Given the description of an element on the screen output the (x, y) to click on. 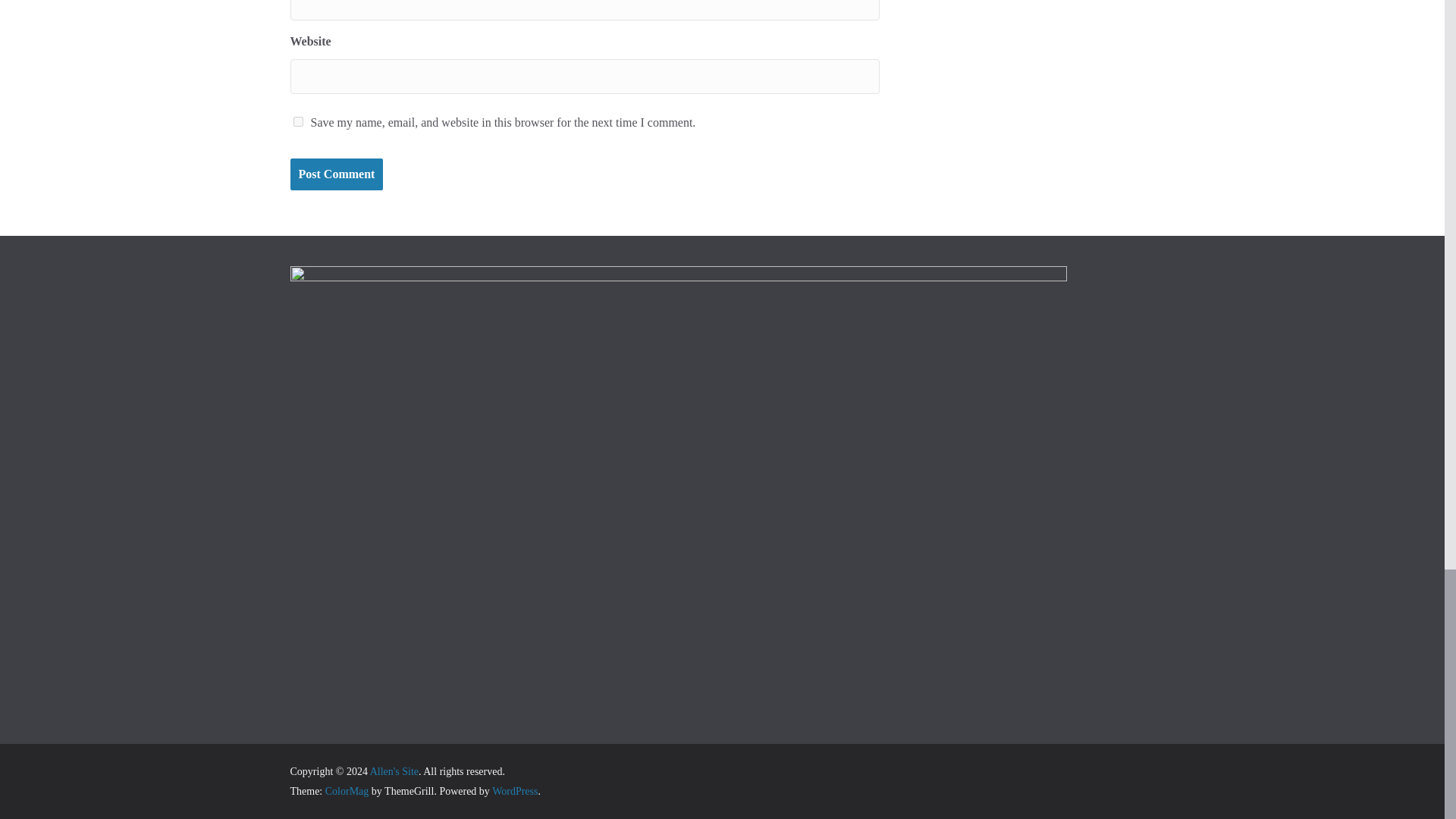
WordPress (514, 790)
ColorMag (346, 790)
Post Comment (335, 174)
Allen's Site (394, 771)
Allen's Site (394, 771)
ColorMag (346, 790)
WordPress (514, 790)
Post Comment (335, 174)
yes (297, 121)
